Given the description of an element on the screen output the (x, y) to click on. 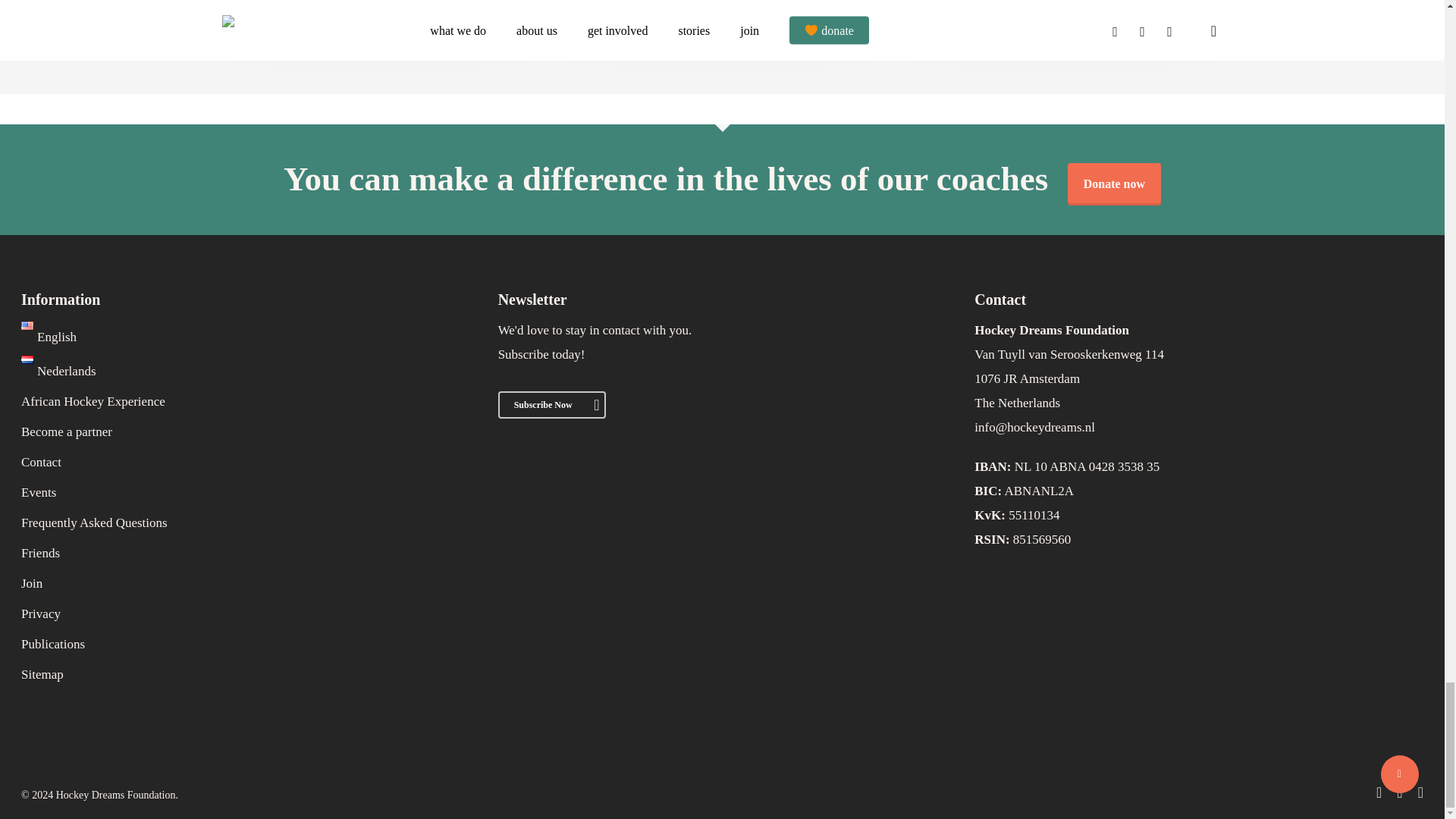
English (49, 336)
Donate now (1113, 183)
